Given the description of an element on the screen output the (x, y) to click on. 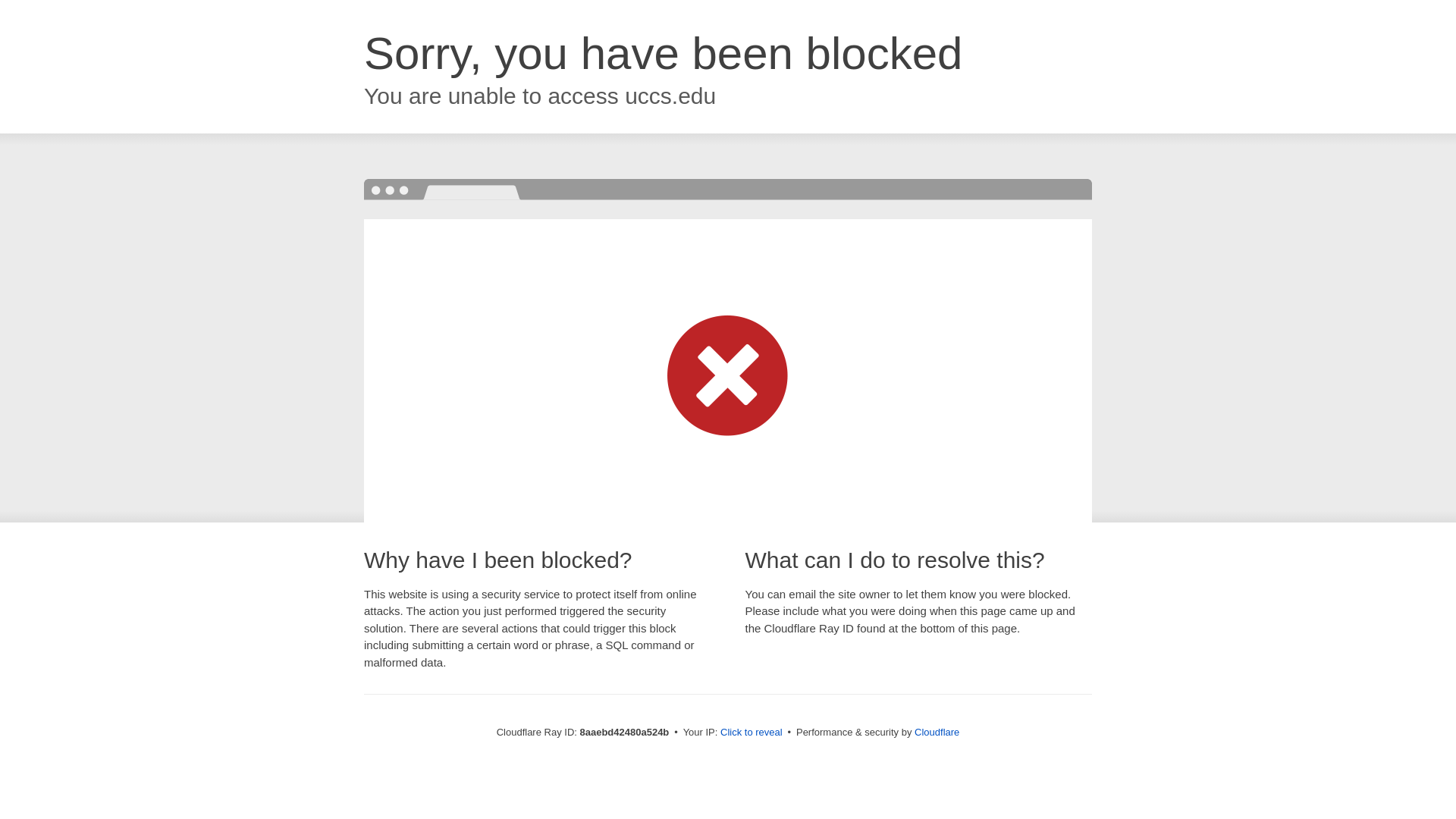
Click to reveal (751, 732)
Cloudflare (936, 731)
